Given the description of an element on the screen output the (x, y) to click on. 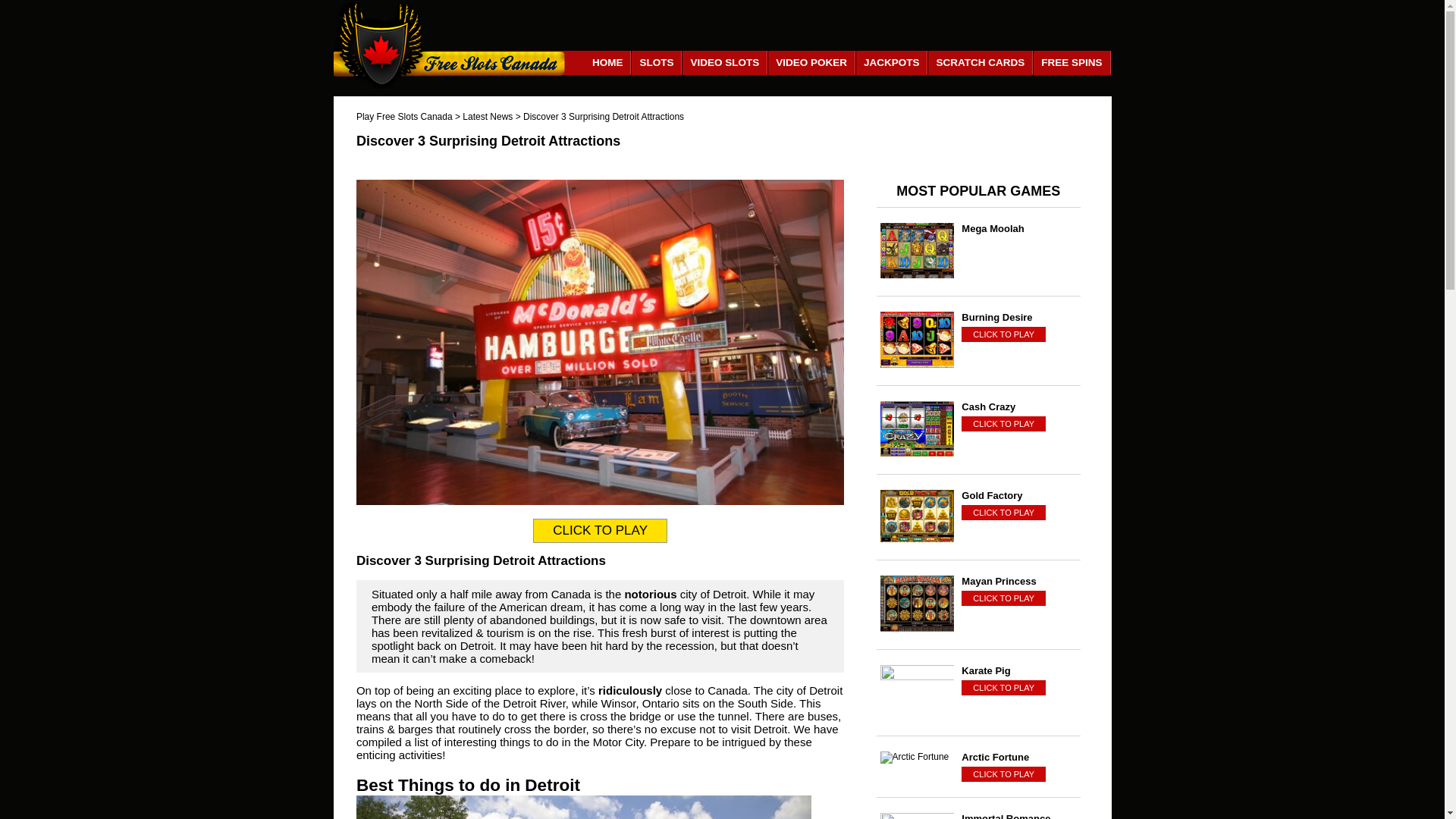
SLOTS (656, 62)
CLICK TO PLAY (1002, 423)
Mayan Princess (1018, 581)
Karate Pig (1018, 670)
JACKPOTS (892, 62)
HOME (608, 62)
Play Free Slots Canada (404, 116)
Go to the Latest News category archives. (487, 116)
FREE SPINS (1071, 62)
CLICK TO PLAY (1002, 512)
